Given the description of an element on the screen output the (x, y) to click on. 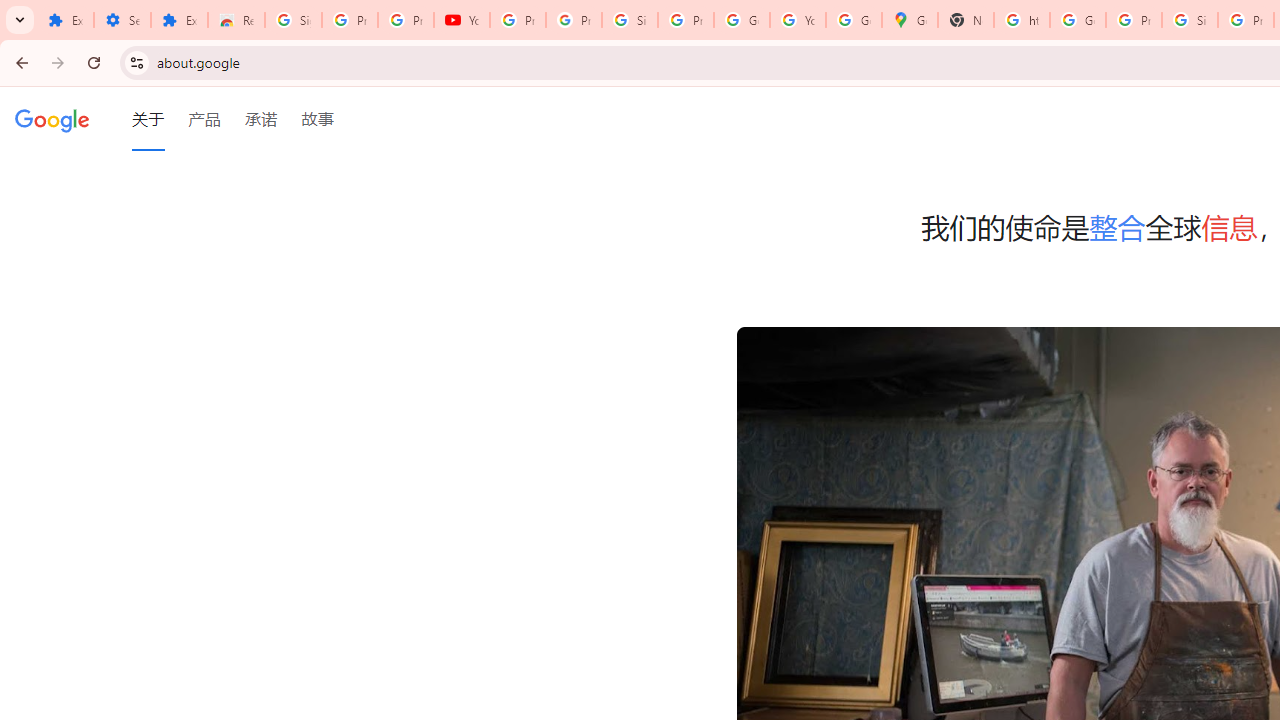
Sign in - Google Accounts (1190, 20)
Reviews: Helix Fruit Jump Arcade Game (235, 20)
YouTube (461, 20)
Sign in - Google Accounts (293, 20)
Google Maps (909, 20)
New Tab (966, 20)
https://scholar.google.com/ (1021, 20)
